Given the description of an element on the screen output the (x, y) to click on. 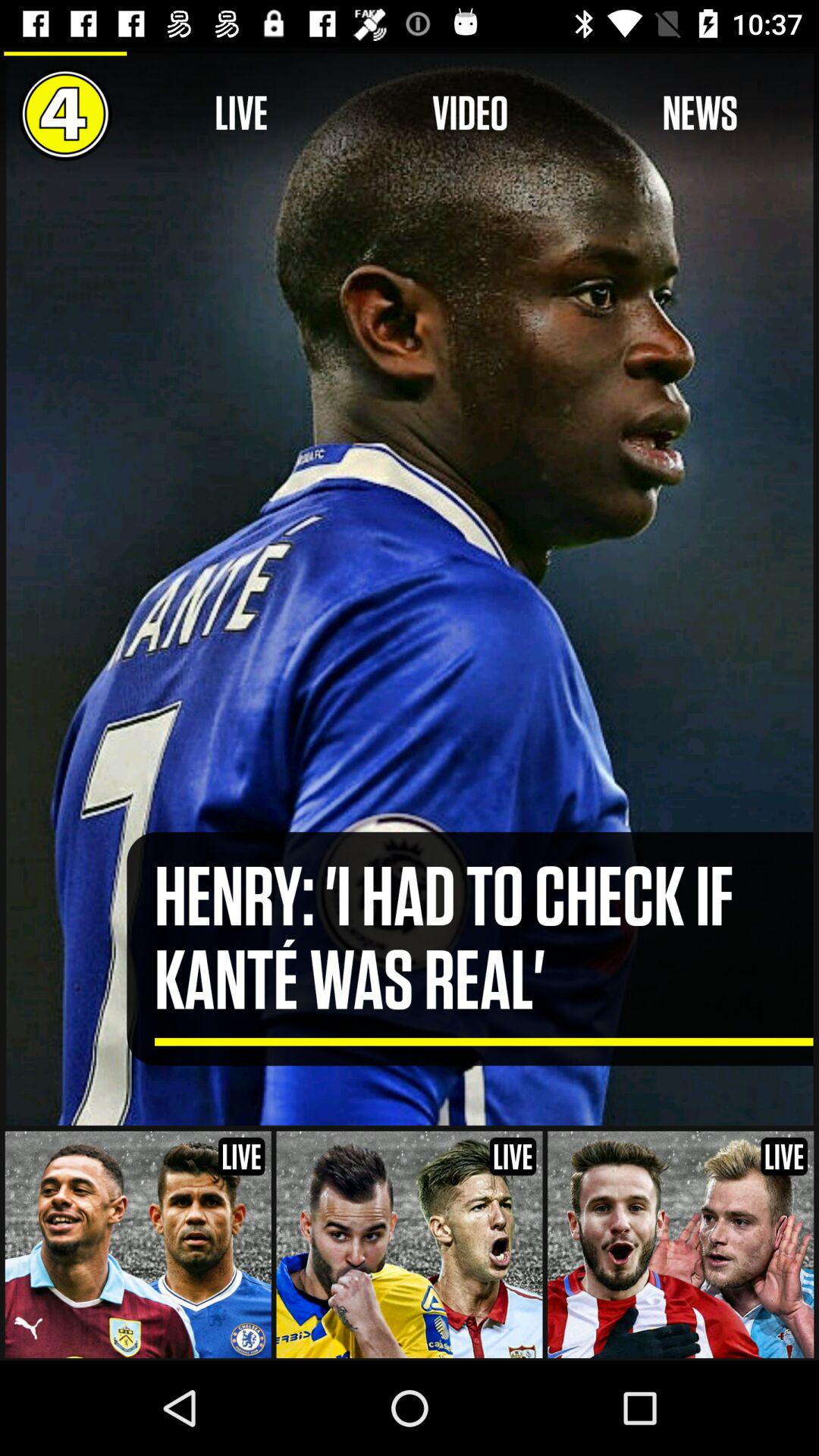
choose item at the top right corner (700, 113)
